Given the description of an element on the screen output the (x, y) to click on. 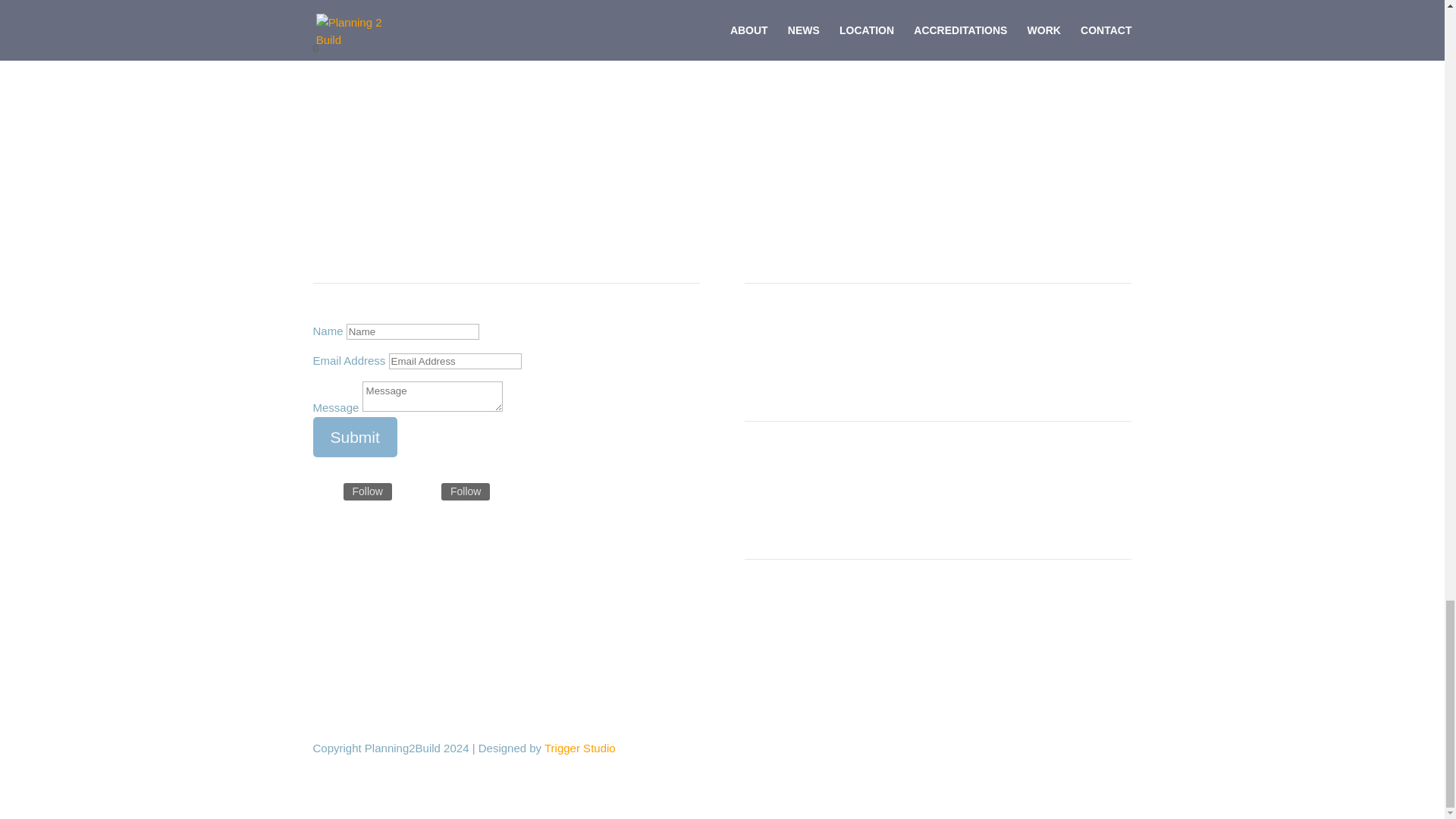
Follow (366, 491)
Facebook (366, 491)
LinkedIn (465, 491)
Follow on LinkedIn (422, 491)
Submit (354, 436)
Follow on Facebook (324, 491)
Follow (465, 491)
Trigger Studio (579, 748)
